Given the description of an element on the screen output the (x, y) to click on. 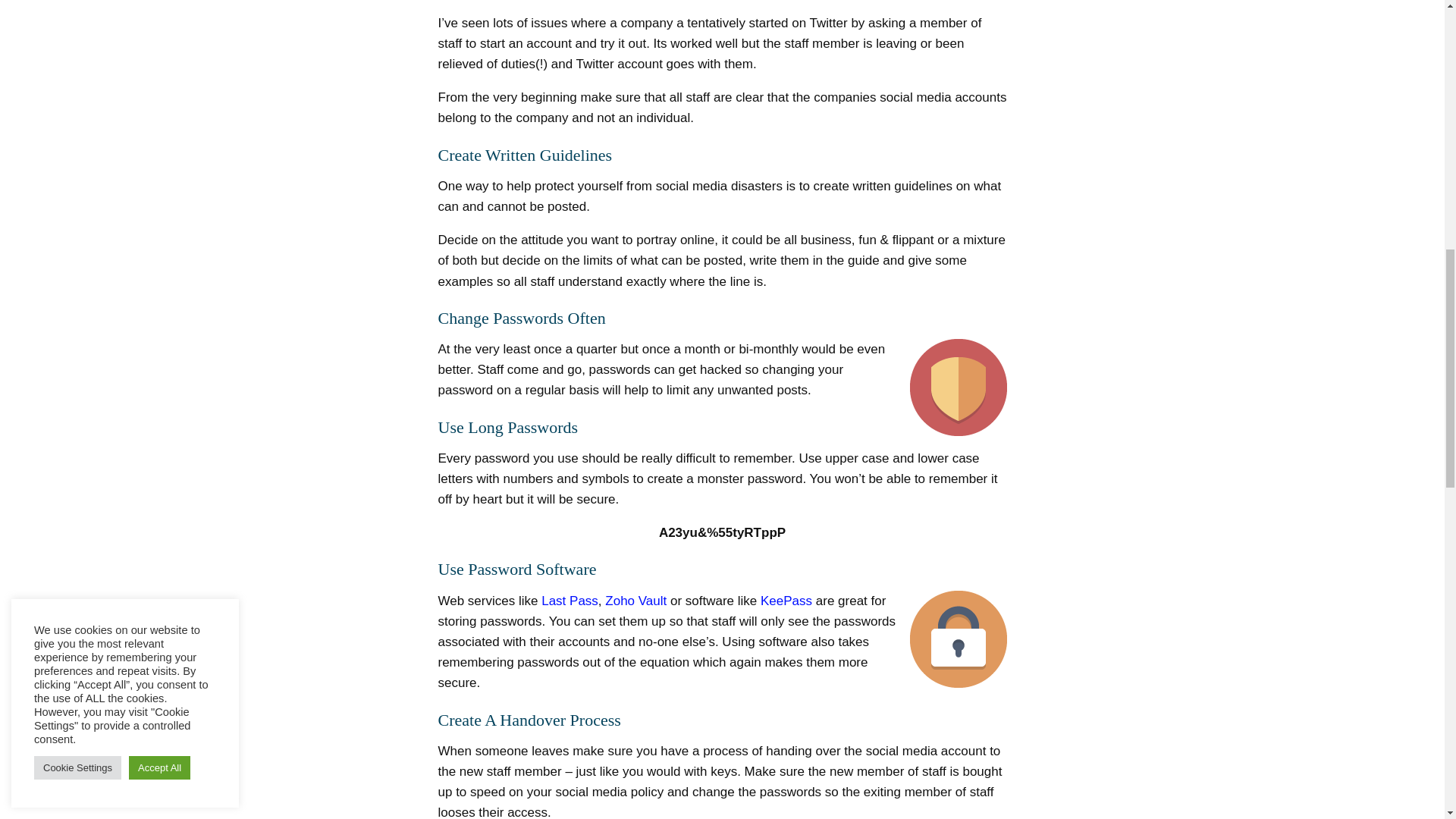
Last Pass (569, 600)
